Given the description of an element on the screen output the (x, y) to click on. 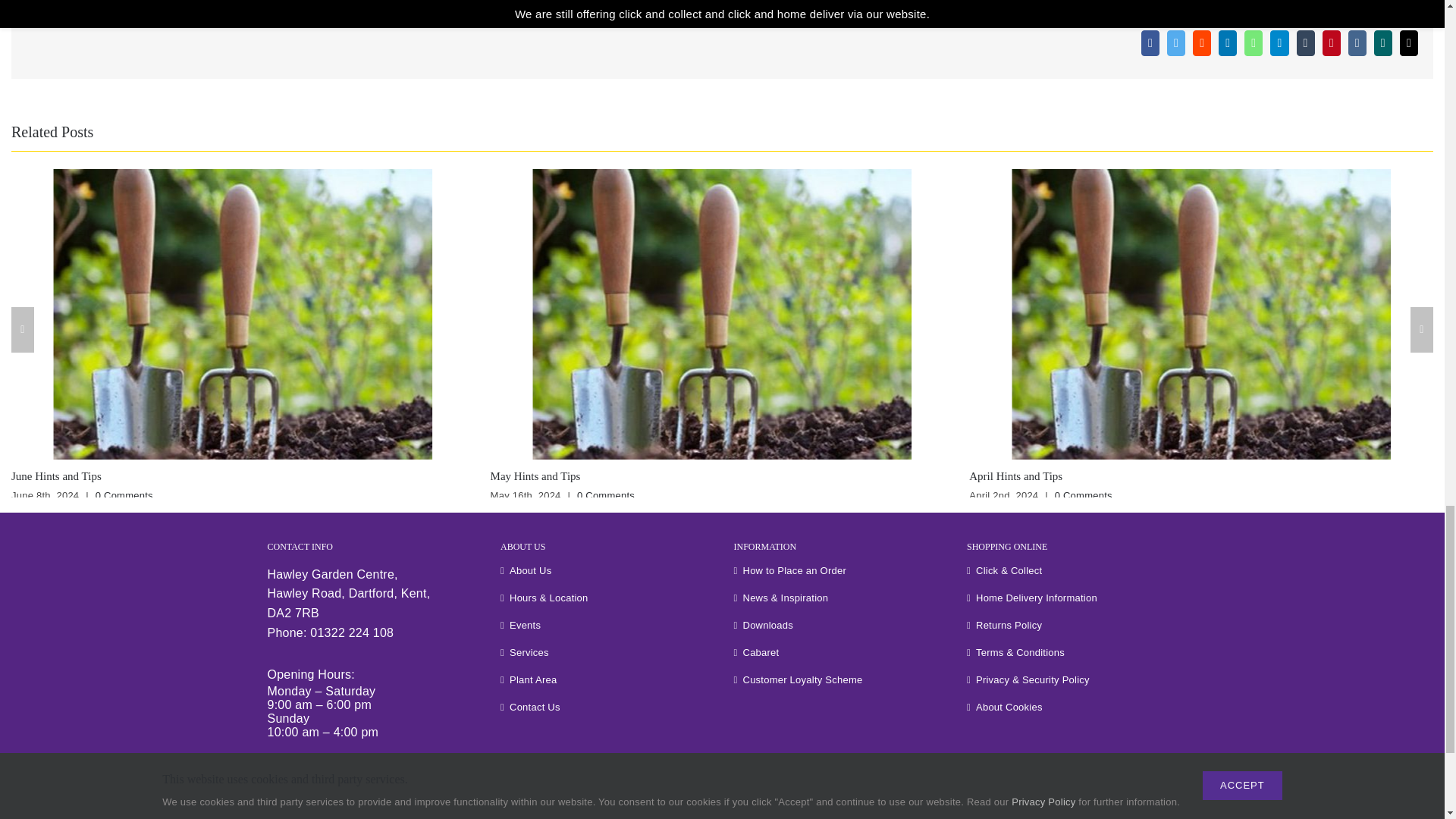
Reddit (1201, 43)
Xing (1382, 43)
Email (1408, 43)
LinkedIn (1227, 43)
Facebook (1149, 43)
WhatsApp (1253, 43)
Tumblr (1305, 43)
Vk (1357, 43)
Telegram (1278, 43)
Pinterest (1331, 43)
Twitter (1176, 43)
